Given the description of an element on the screen output the (x, y) to click on. 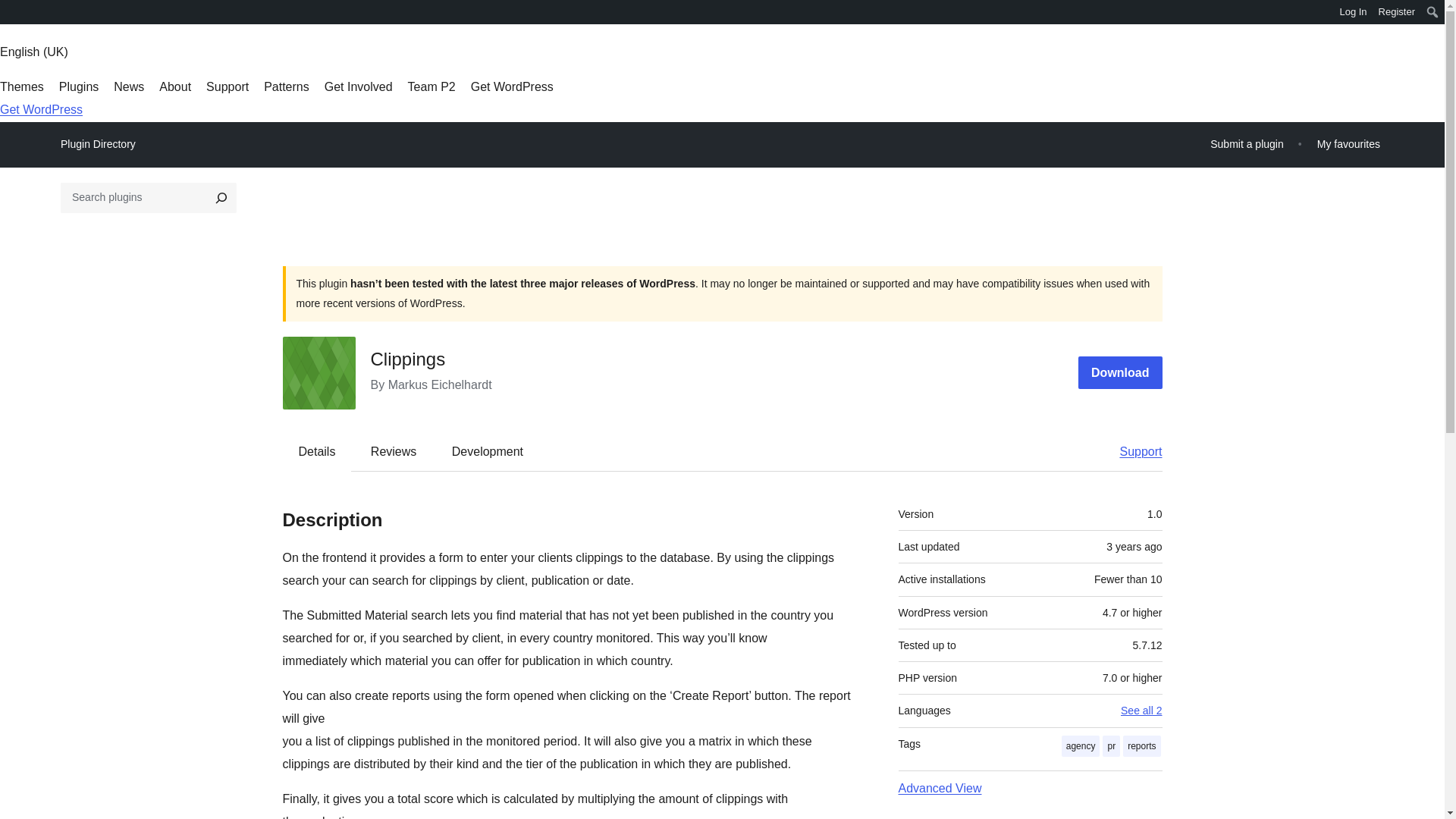
Development (487, 451)
Details (316, 451)
My favourites (1348, 144)
Search (16, 13)
Patterns (285, 87)
Support (227, 87)
About (174, 87)
Get WordPress (511, 87)
Themes (21, 87)
Plugins (79, 87)
Team P2 (431, 87)
Register (1397, 12)
Submit a plugin (1247, 144)
WordPress.org (10, 10)
Get Involved (358, 87)
